Given the description of an element on the screen output the (x, y) to click on. 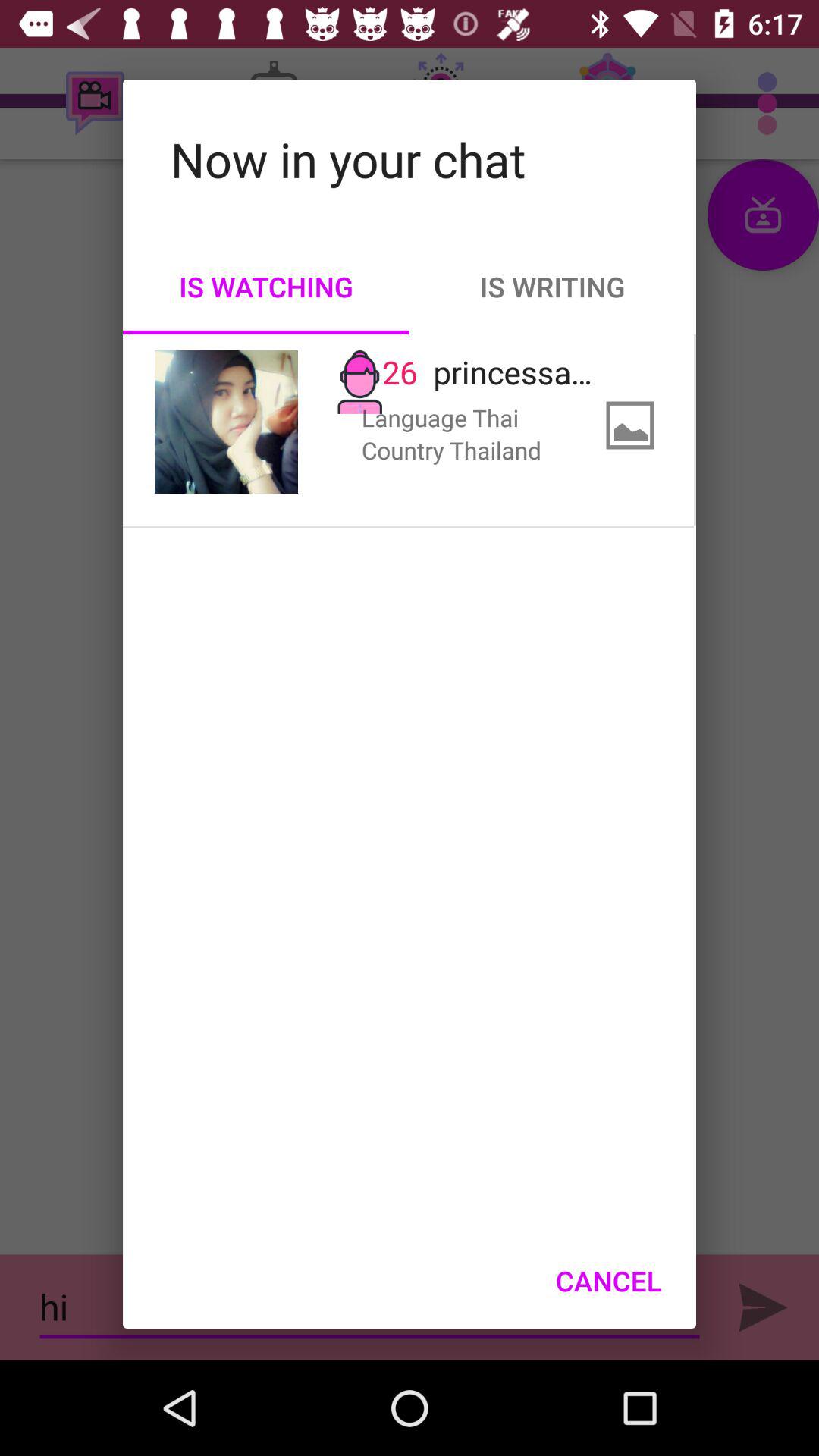
turn off icon below the is watching item (226, 421)
